Given the description of an element on the screen output the (x, y) to click on. 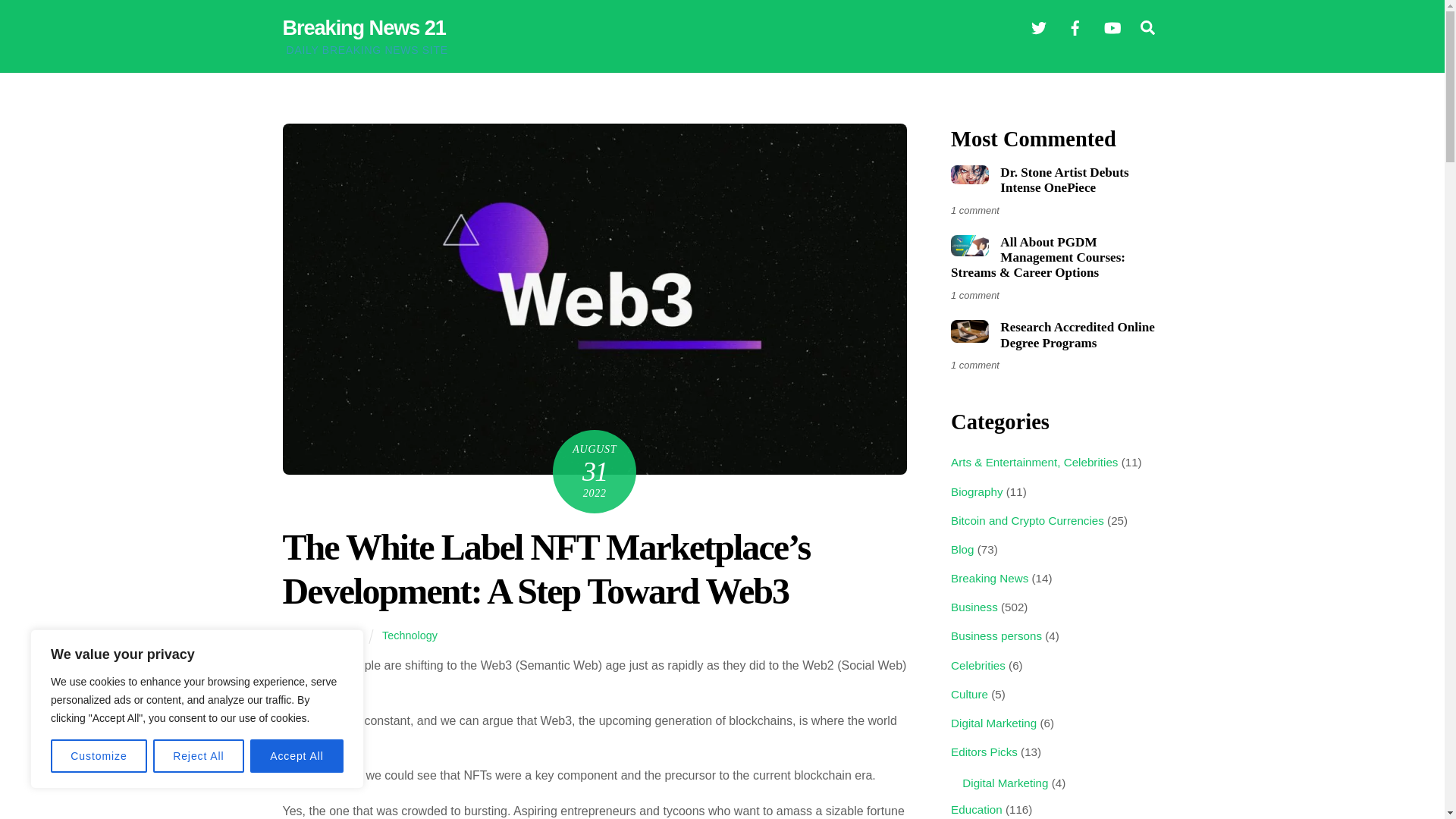
Search (1146, 27)
Breaking News 21 (363, 27)
Accept All (296, 756)
Reject All (198, 756)
Breaking News 21 (363, 27)
Technology (409, 635)
Customize (98, 756)
Search (721, 27)
Dr. Stone Artist Debuts Intense OnePiece (969, 174)
TAMOOR MALIK (322, 635)
